Given the description of an element on the screen output the (x, y) to click on. 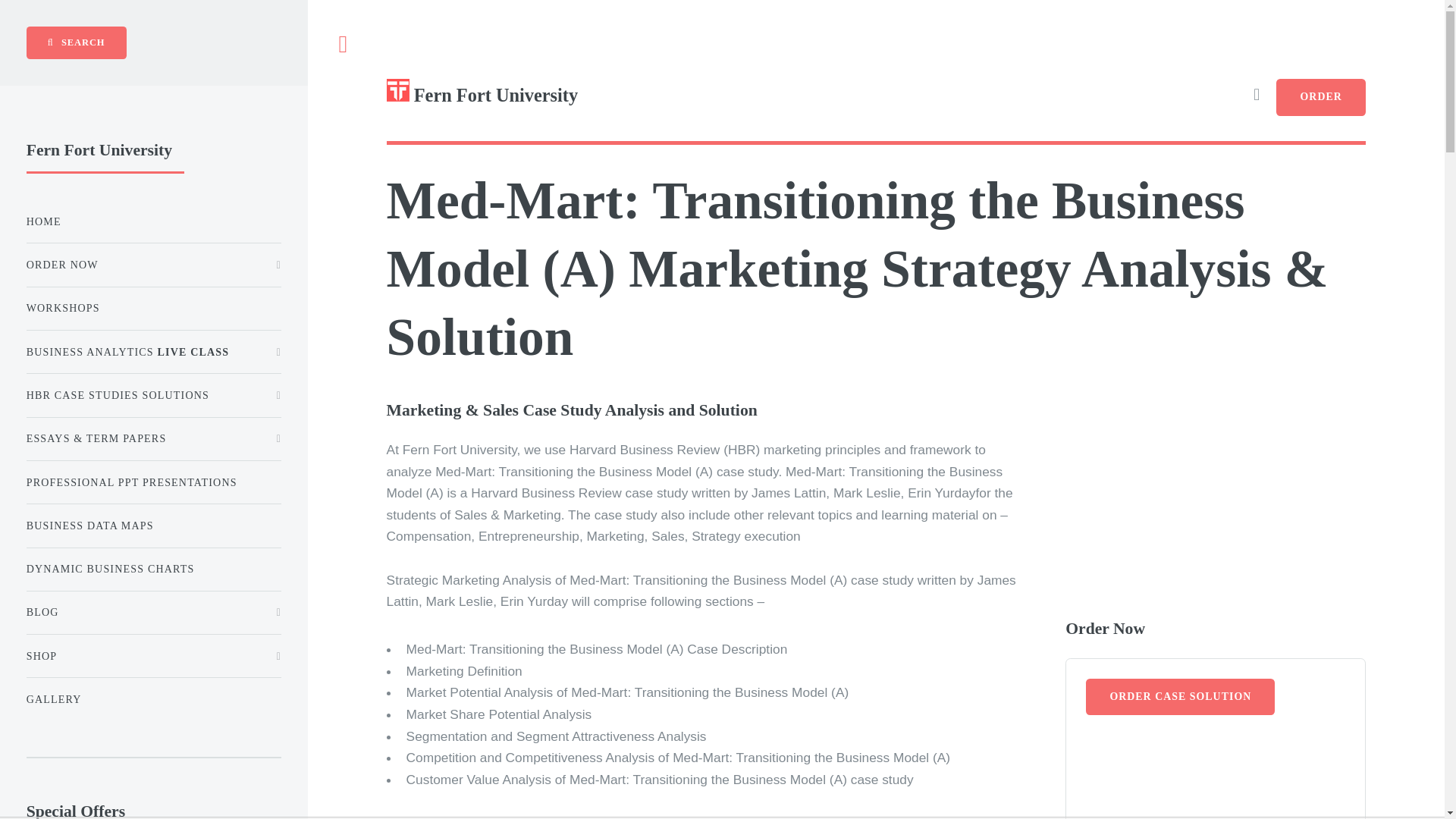
ORDER CASE SOLUTION (1180, 696)
Advertisement (1215, 778)
Fern Fort University (631, 102)
ORDER (1320, 97)
SEARCH (76, 42)
HOME (153, 221)
Advertisement (1192, 504)
WORKSHOPS (153, 308)
